Given the description of an element on the screen output the (x, y) to click on. 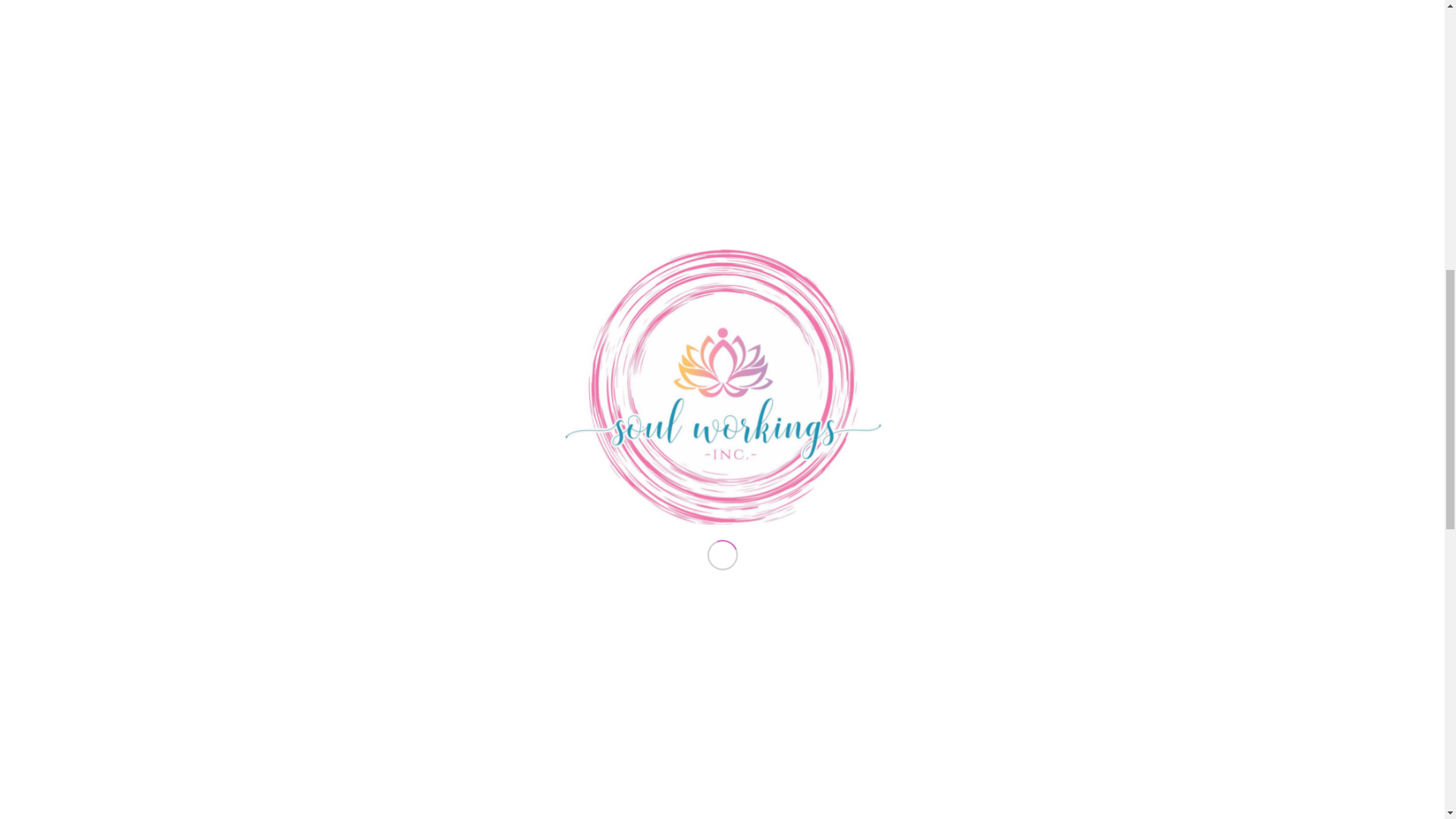
Share this on Facebook (343, 699)
Submit this to Pinterest (402, 699)
Tweet this ! (373, 699)
Email this  (433, 699)
